Given the description of an element on the screen output the (x, y) to click on. 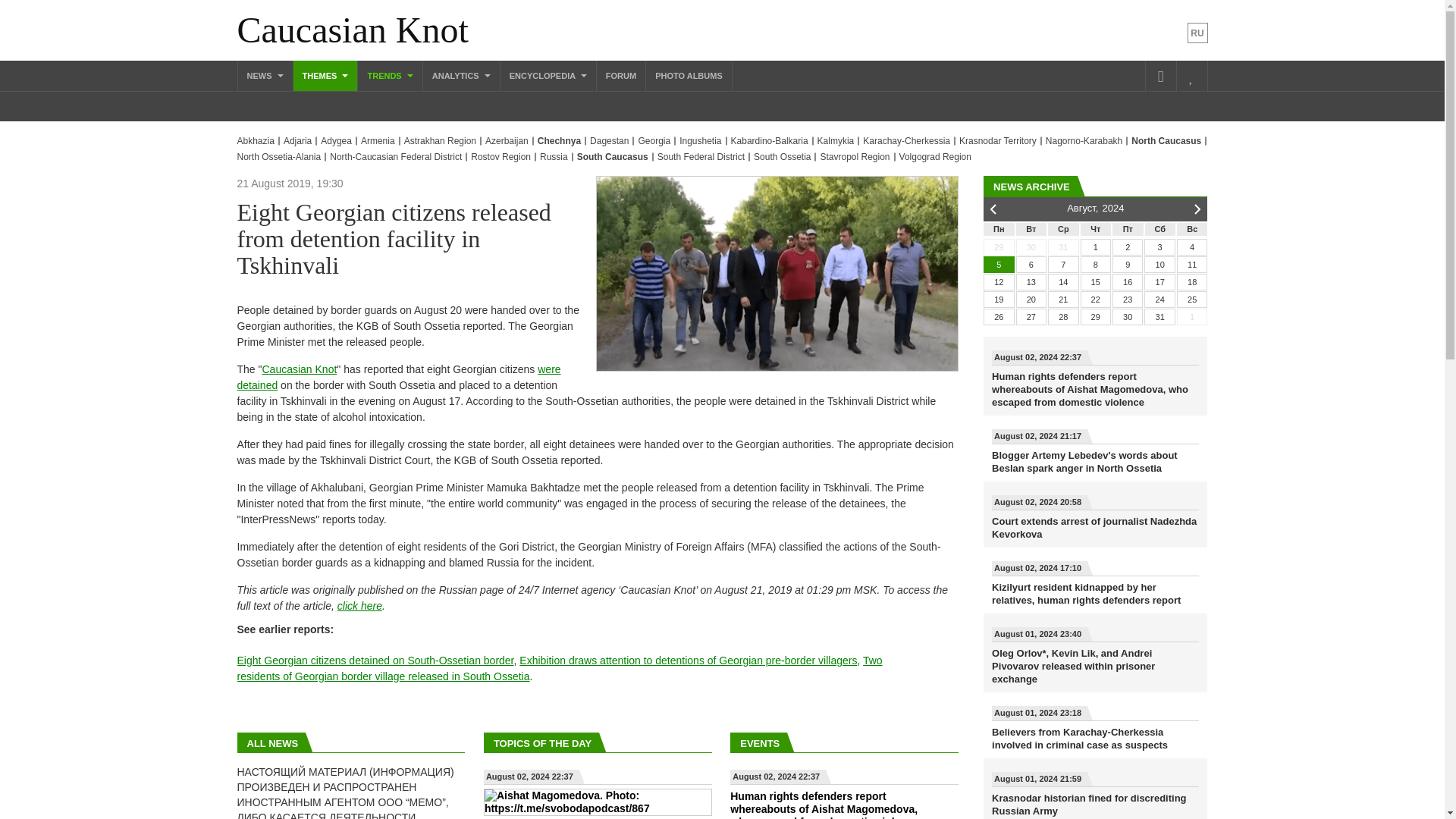
NEWS (265, 75)
THEMES (326, 75)
ENCYCLOPEDIA (547, 75)
Toggle on russian version (1198, 32)
ANALYTICS (461, 75)
RU (1198, 32)
TRENDS (390, 75)
Caucasian Knot (351, 30)
